Given the description of an element on the screen output the (x, y) to click on. 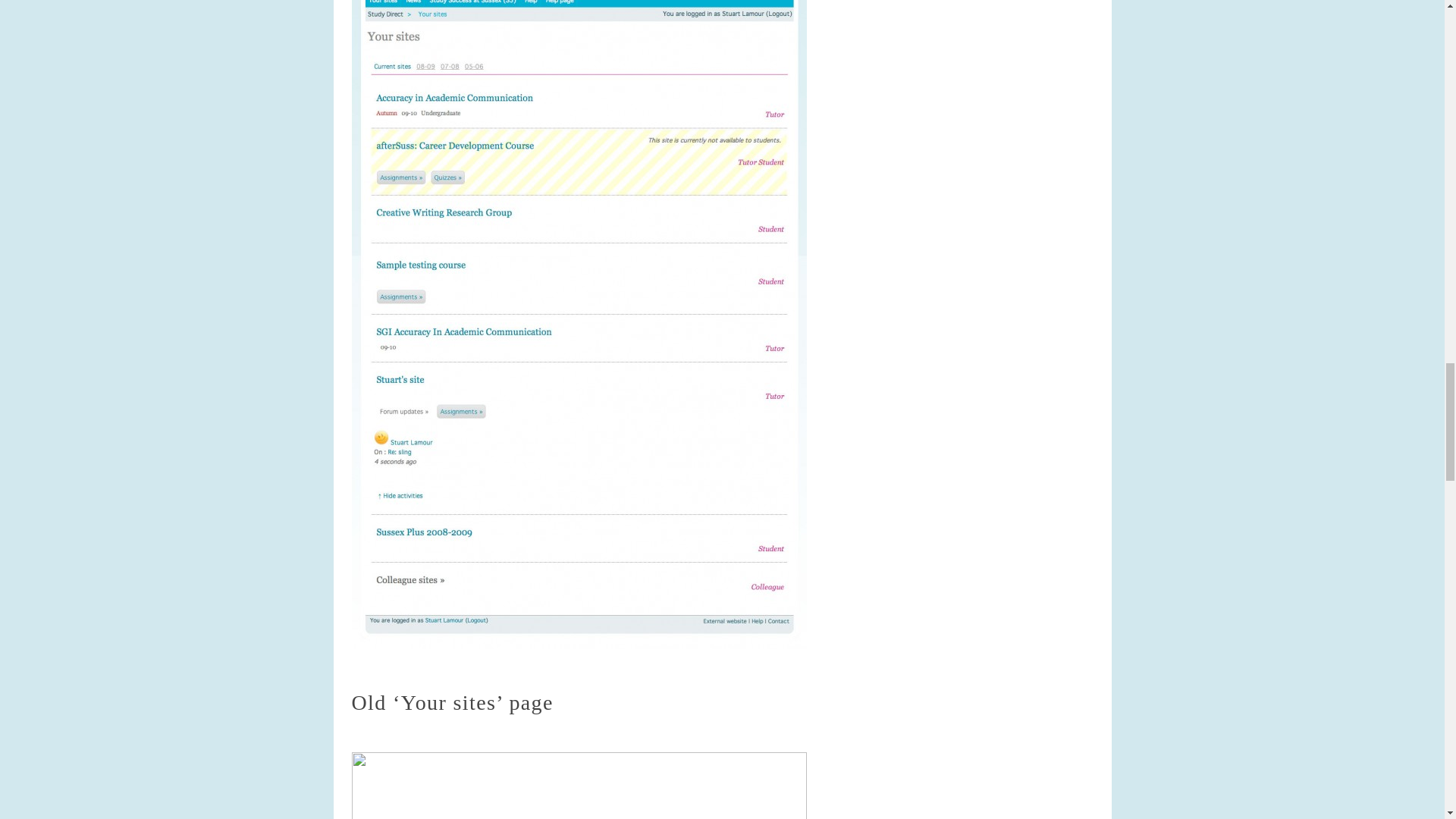
My page (579, 785)
